Given the description of an element on the screen output the (x, y) to click on. 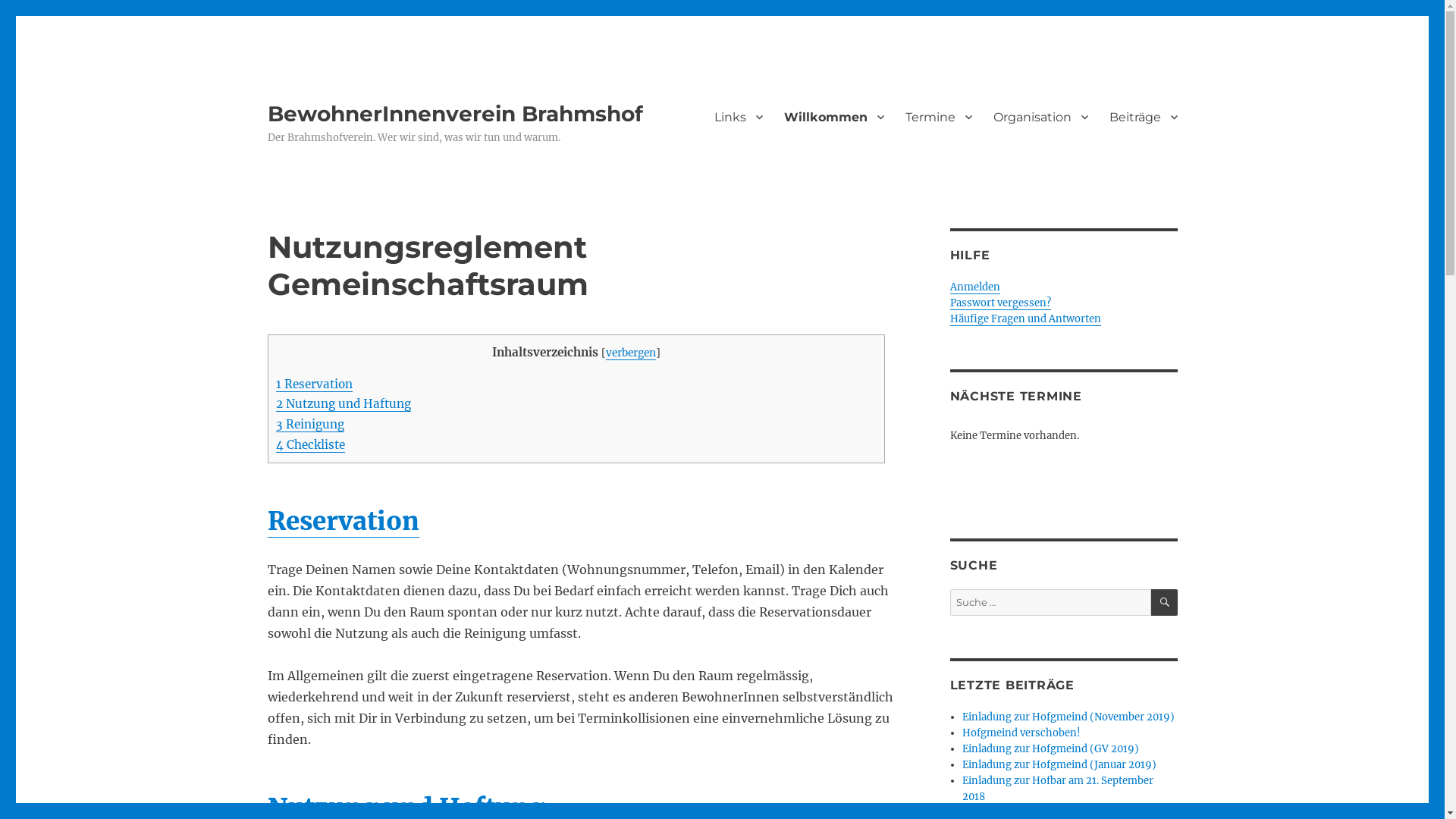
1 Reservation Element type: text (314, 383)
Termine Element type: text (938, 116)
BewohnerInnenverein Brahmshof Element type: text (454, 113)
SUCHEN Element type: text (1164, 602)
Einladung zur Hofgmeind (Januar 2019) Element type: text (1059, 764)
Organisation Element type: text (1040, 116)
Einladung zur Hofgmeind (November 2019) Element type: text (1068, 716)
3 Reinigung Element type: text (310, 424)
Passwort vergessen? Element type: text (999, 302)
Einladung zur Hofbar am 21. September 2018 Element type: text (1057, 788)
Links Element type: text (738, 116)
Anmelden Element type: text (974, 286)
Willkommen Element type: text (833, 116)
verbergen Element type: text (630, 352)
4 Checkliste Element type: text (310, 444)
Reservation Element type: text (342, 520)
Einladung zur Hofgmeind (GV 2019) Element type: text (1050, 748)
2 Nutzung und Haftung Element type: text (343, 403)
Hofgmeind verschoben! Element type: text (1021, 732)
